Given the description of an element on the screen output the (x, y) to click on. 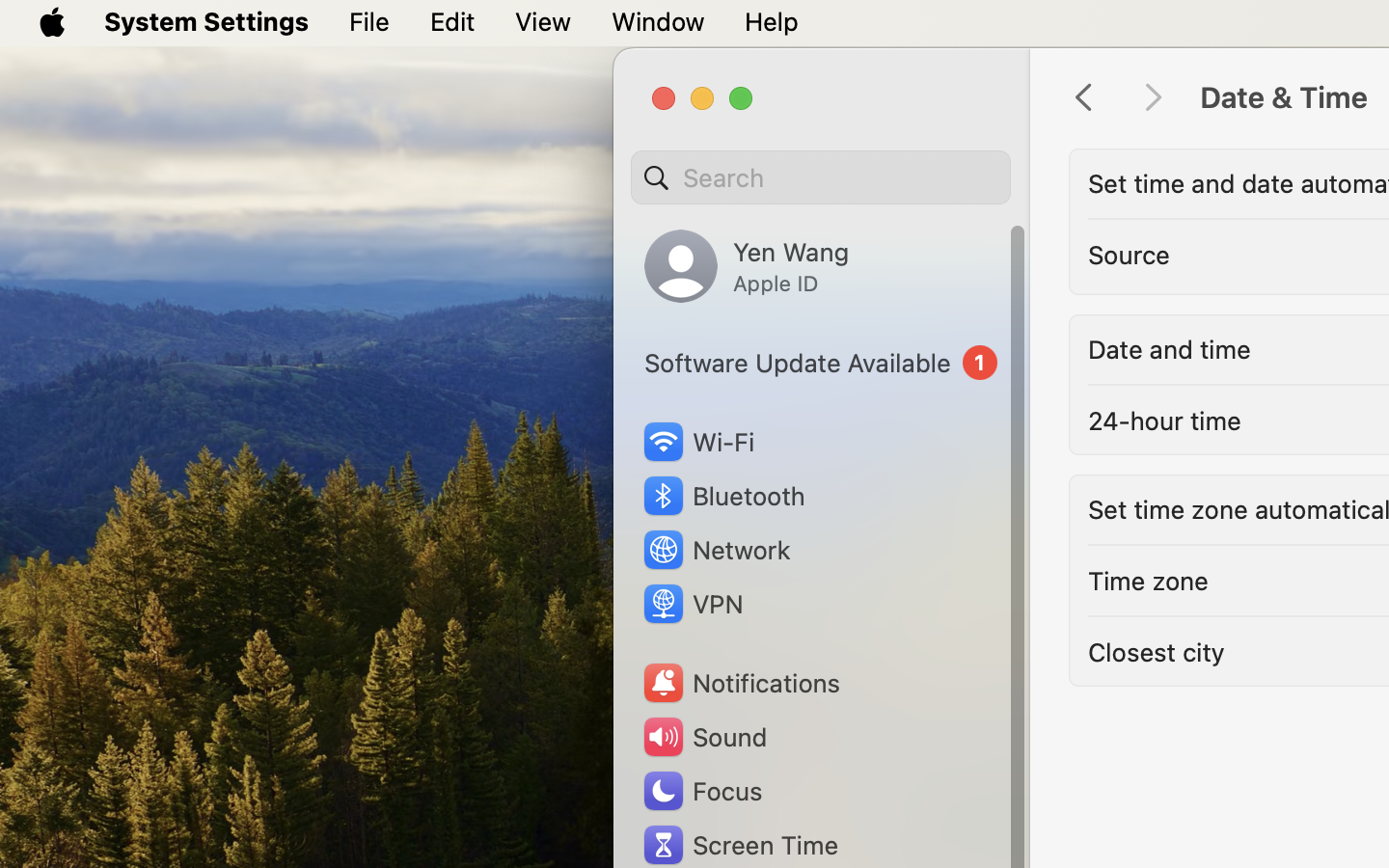
Source Element type: AXStaticText (1129, 254)
24-hour time Element type: AXStaticText (1164, 420)
Screen Time Element type: AXStaticText (739, 844)
Closest city Element type: AXStaticText (1156, 651)
Wi‑Fi Element type: AXStaticText (697, 441)
